Given the description of an element on the screen output the (x, y) to click on. 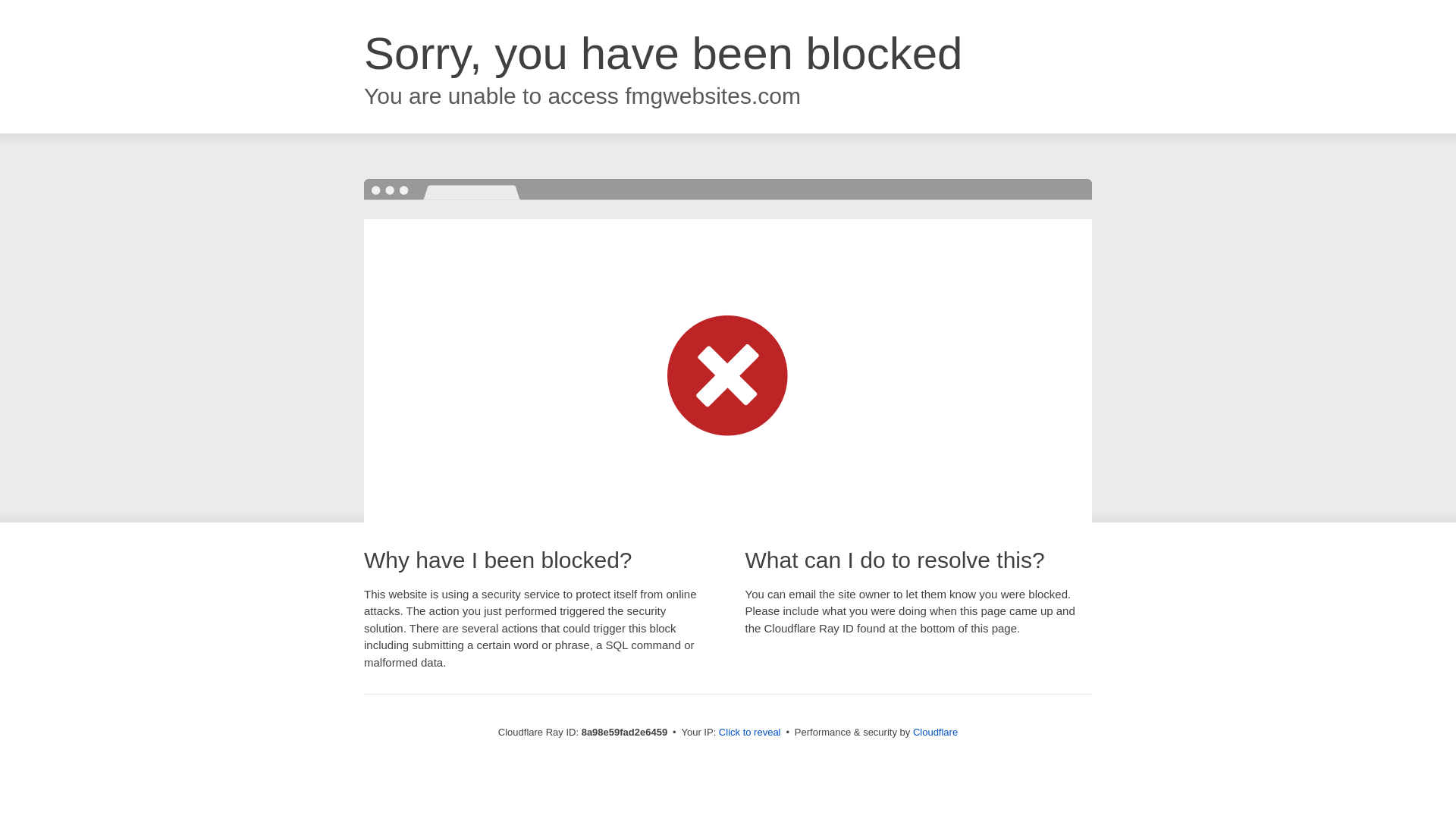
Click to reveal (749, 732)
Cloudflare (935, 731)
